Given the description of an element on the screen output the (x, y) to click on. 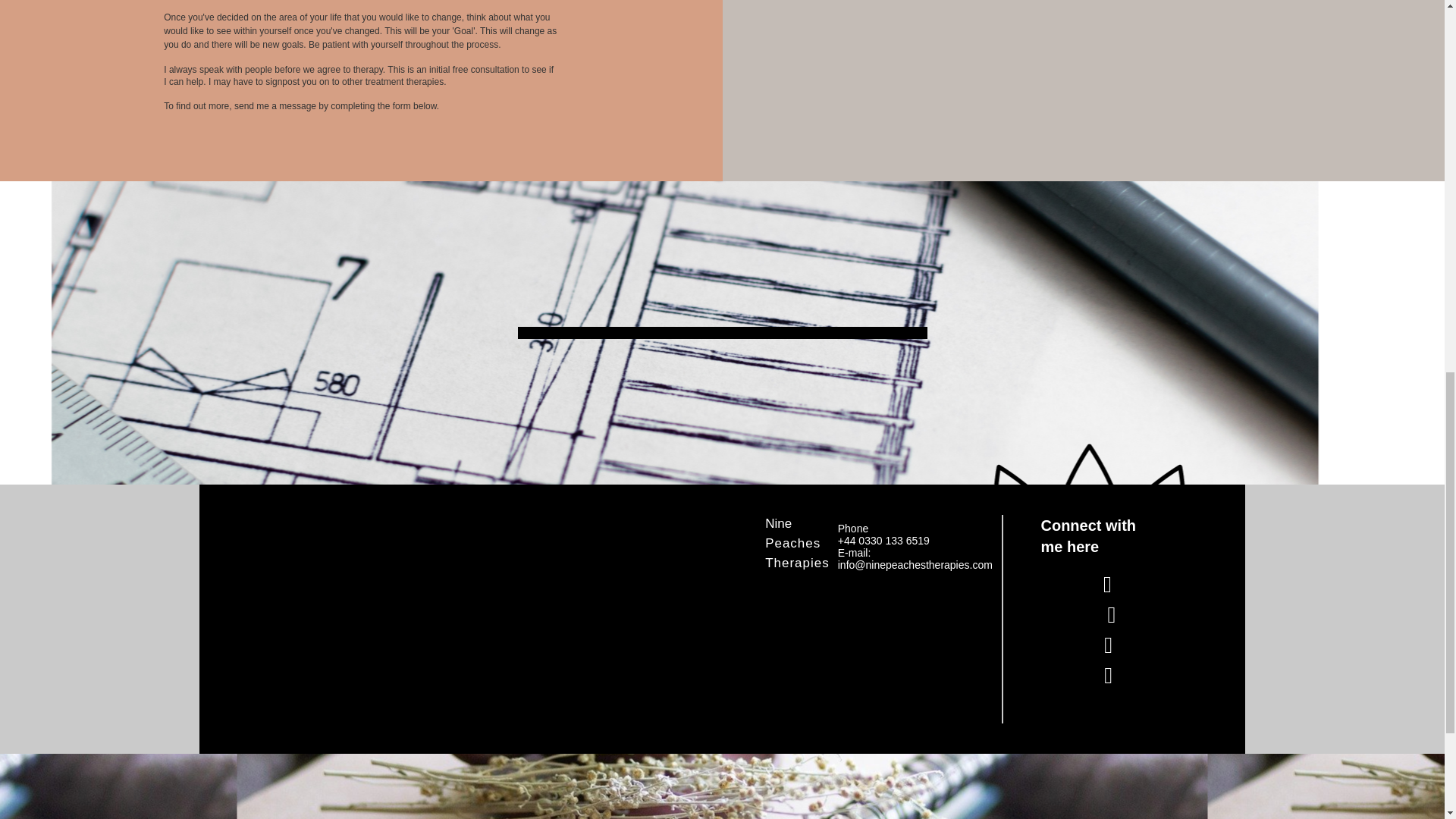
Instagram (1113, 644)
